Given the description of an element on the screen output the (x, y) to click on. 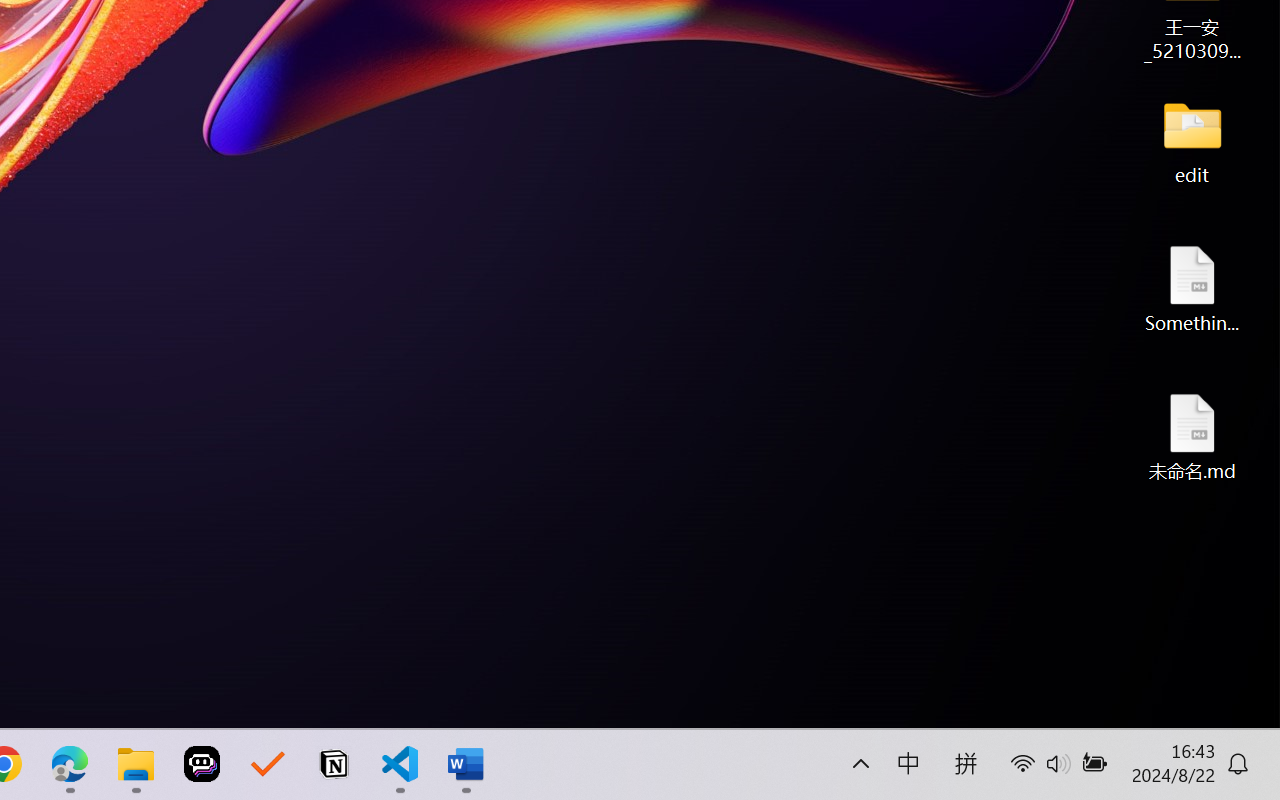
Something.md (1192, 288)
